Given the description of an element on the screen output the (x, y) to click on. 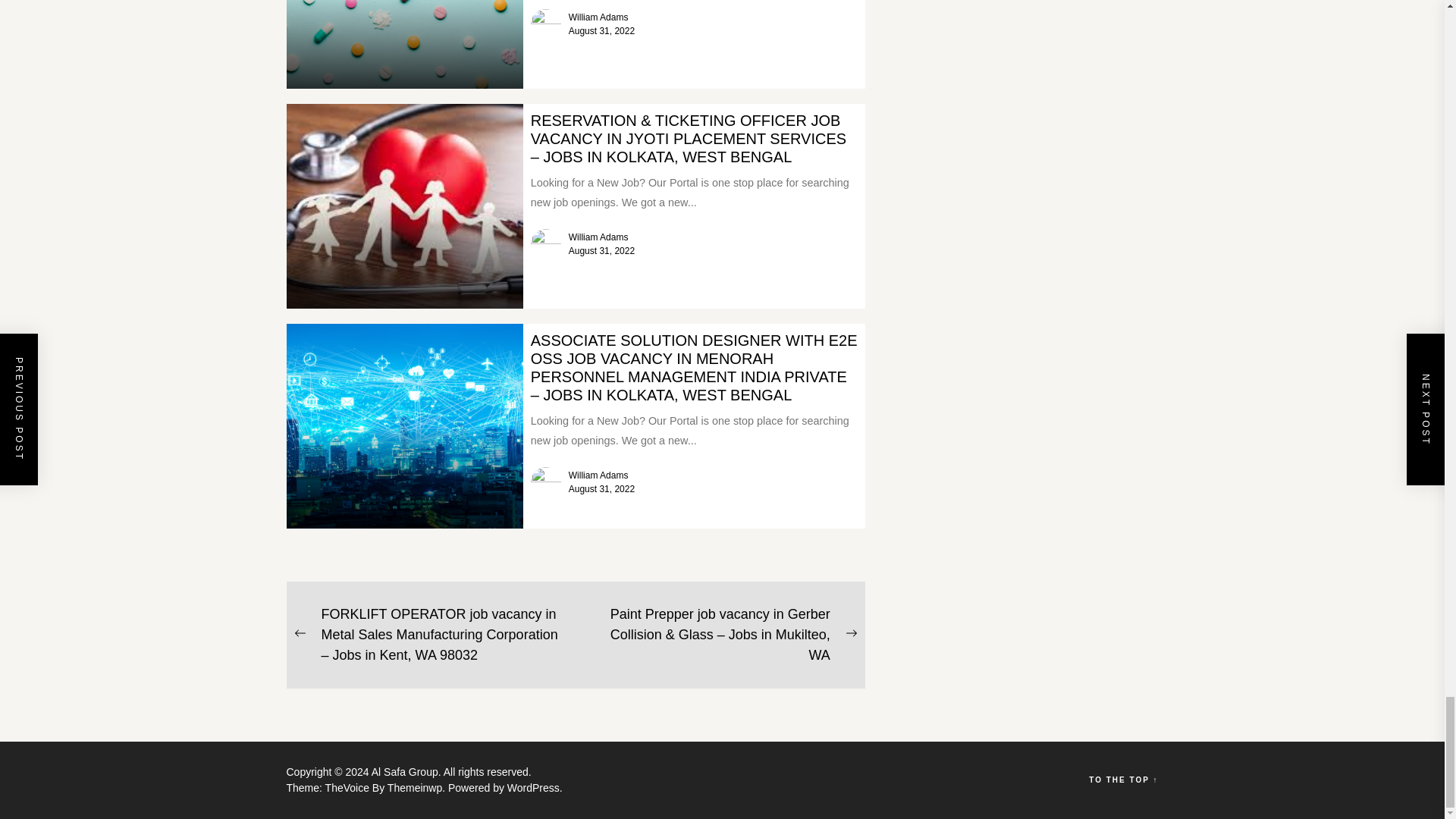
Themeinwp (417, 787)
Al Safa Group (407, 771)
WordPress (534, 787)
